Given the description of an element on the screen output the (x, y) to click on. 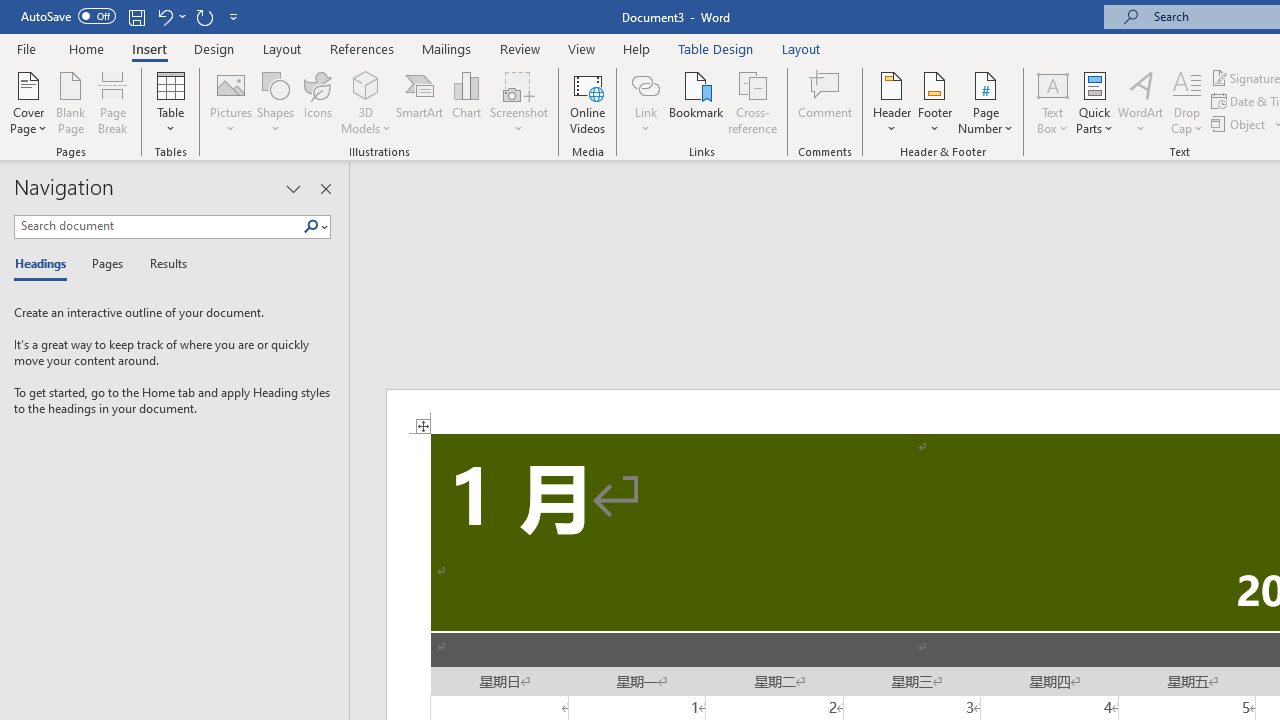
Table Design (715, 48)
Comment (825, 102)
3D Models (366, 102)
Header (891, 102)
Search document (157, 226)
Headings (45, 264)
Icons (317, 102)
3D Models (366, 84)
Link (645, 102)
Cover Page (28, 102)
